Given the description of an element on the screen output the (x, y) to click on. 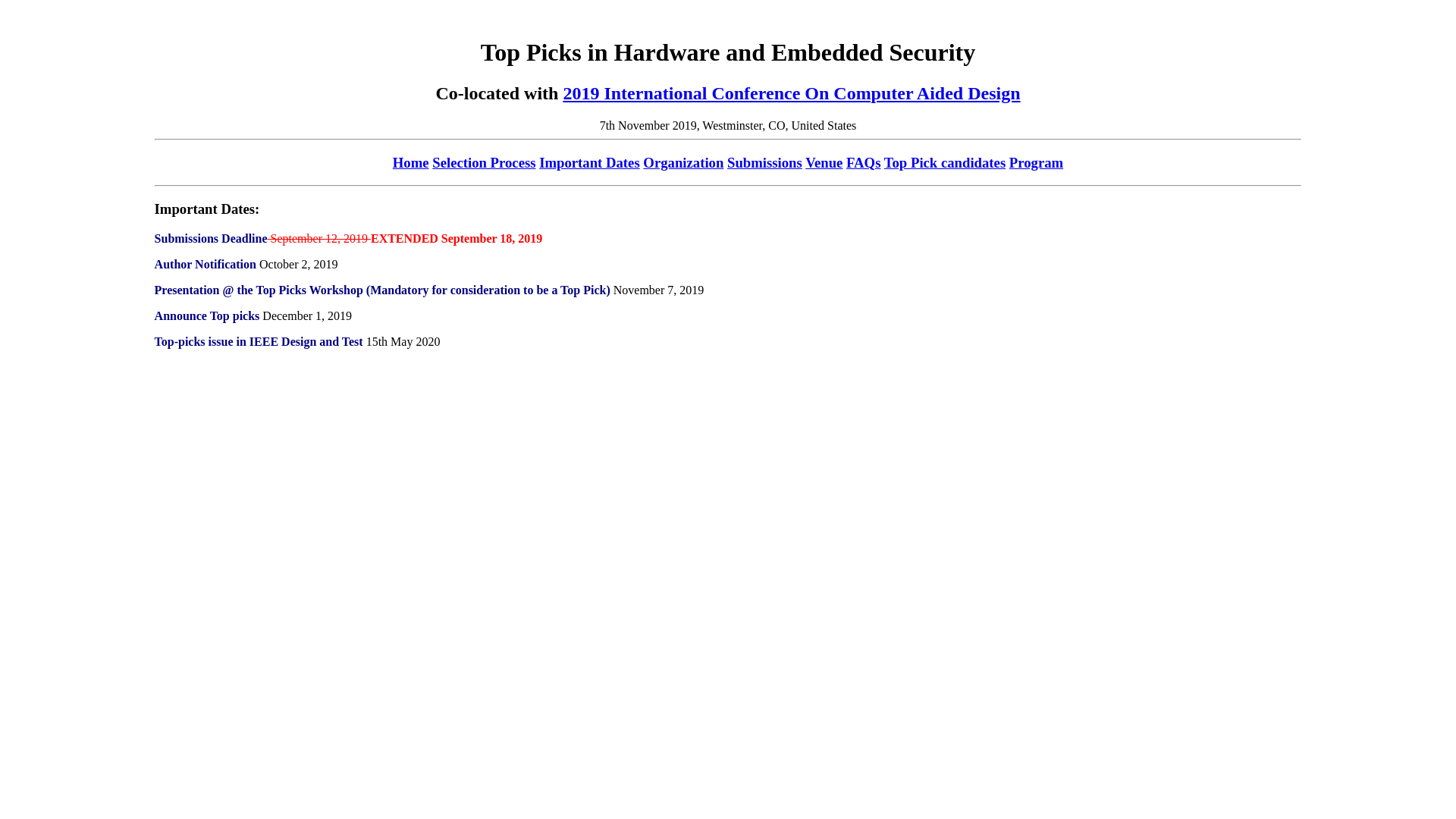
Organization Element type: text (683, 162)
Home Element type: text (410, 162)
Venue Element type: text (823, 162)
Submissions Element type: text (764, 162)
Important Dates Element type: text (589, 162)
Top Pick candidates Element type: text (944, 162)
FAQs Element type: text (863, 162)
Program Element type: text (1036, 162)
2019 International Conference On Computer Aided Design Element type: text (790, 93)
Selection Process Element type: text (483, 162)
